Given the description of an element on the screen output the (x, y) to click on. 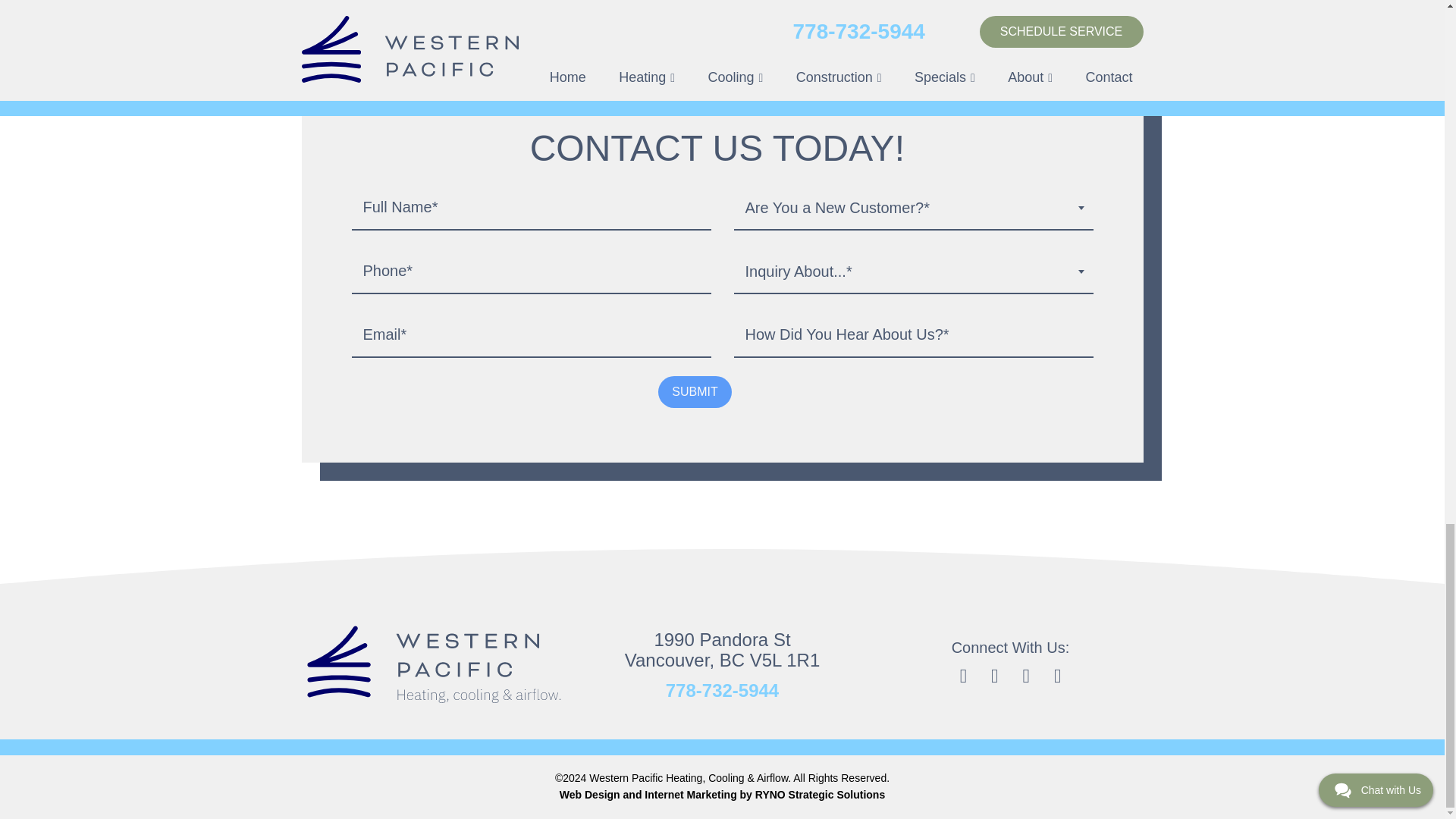
Submit (694, 391)
